Given the description of an element on the screen output the (x, y) to click on. 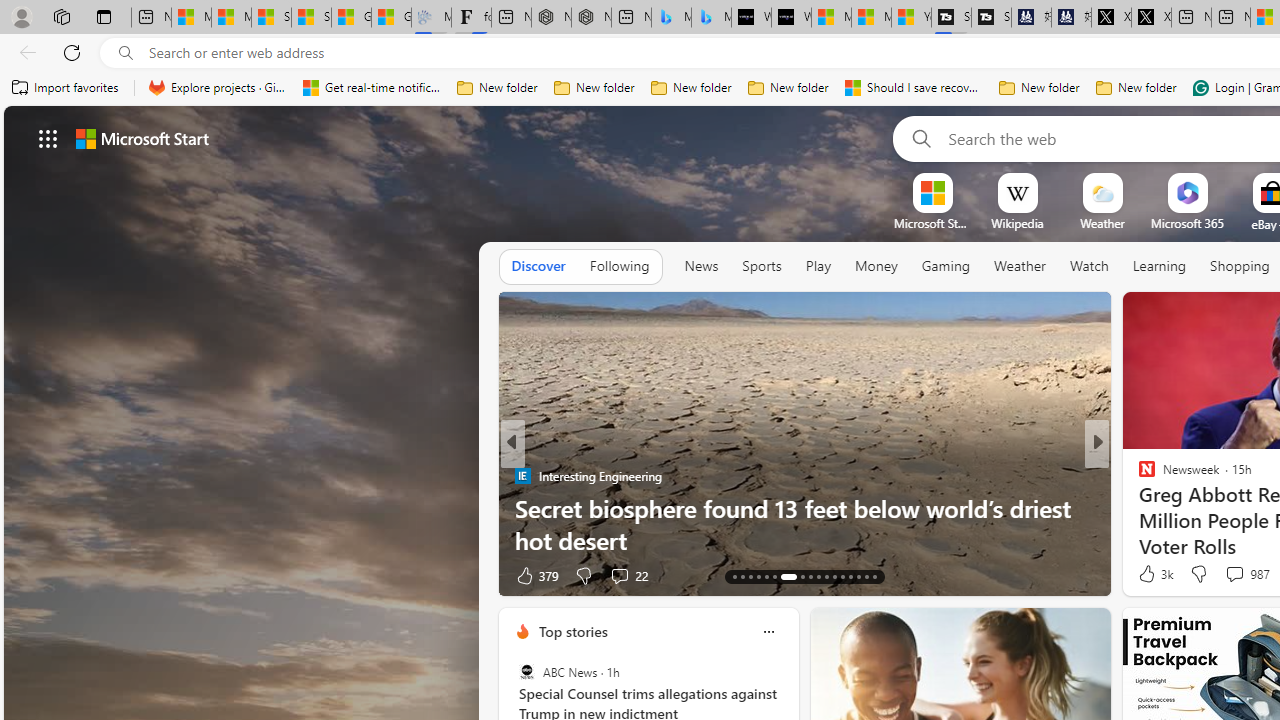
View comments 174 Comment (1247, 574)
View comments 17 Comment (1244, 574)
AutomationID: tab-13 (733, 576)
View comments 987 Comment (1246, 574)
AutomationID: tab-14 (742, 576)
View comments 22 Comment (619, 575)
Top stories (572, 631)
CBS News (Video) (1138, 475)
View comments 22 Comment (628, 574)
